Given the description of an element on the screen output the (x, y) to click on. 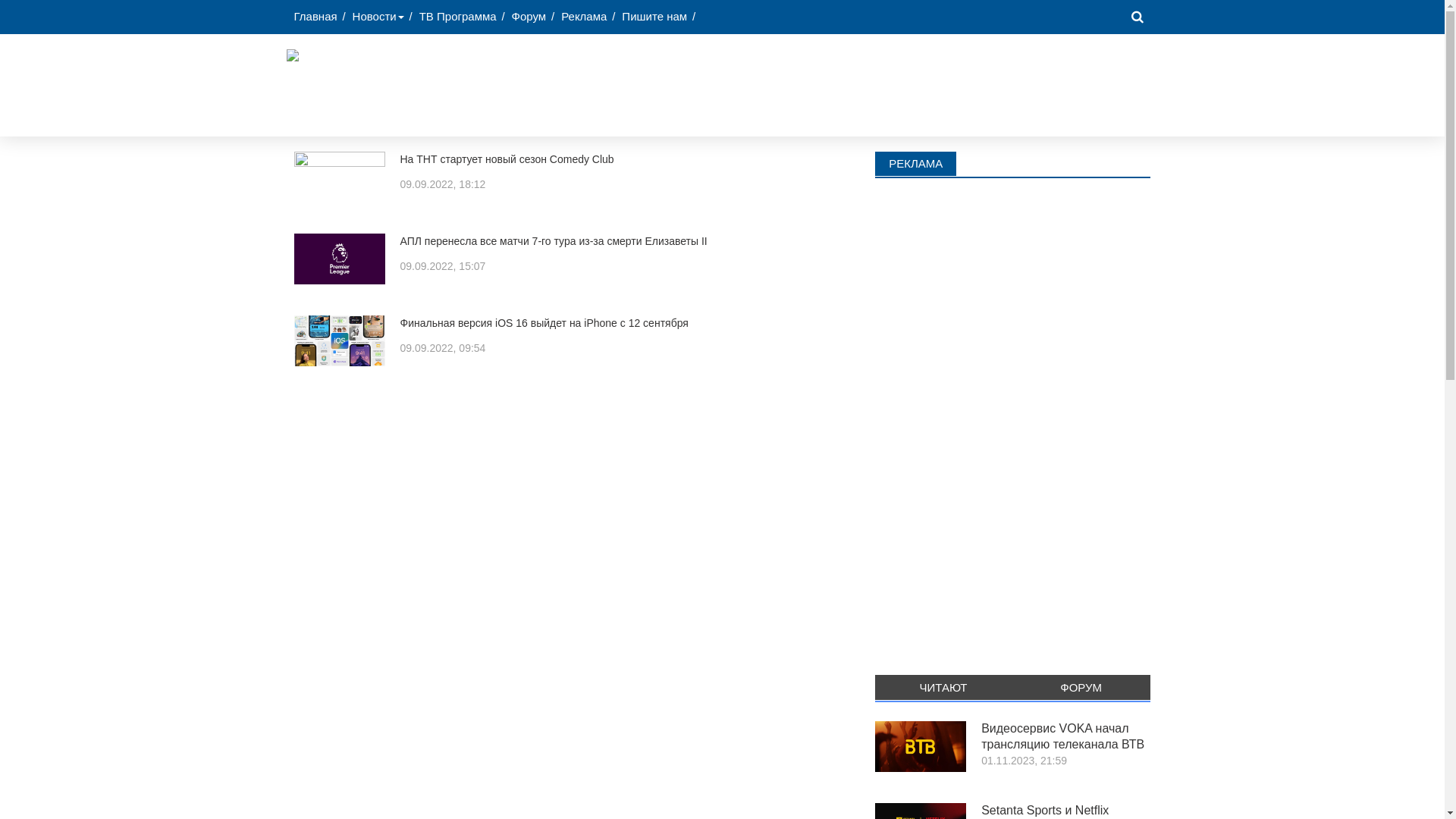
Advertisement Element type: hover (1012, 420)
Advertisement Element type: hover (870, 83)
